Given the description of an element on the screen output the (x, y) to click on. 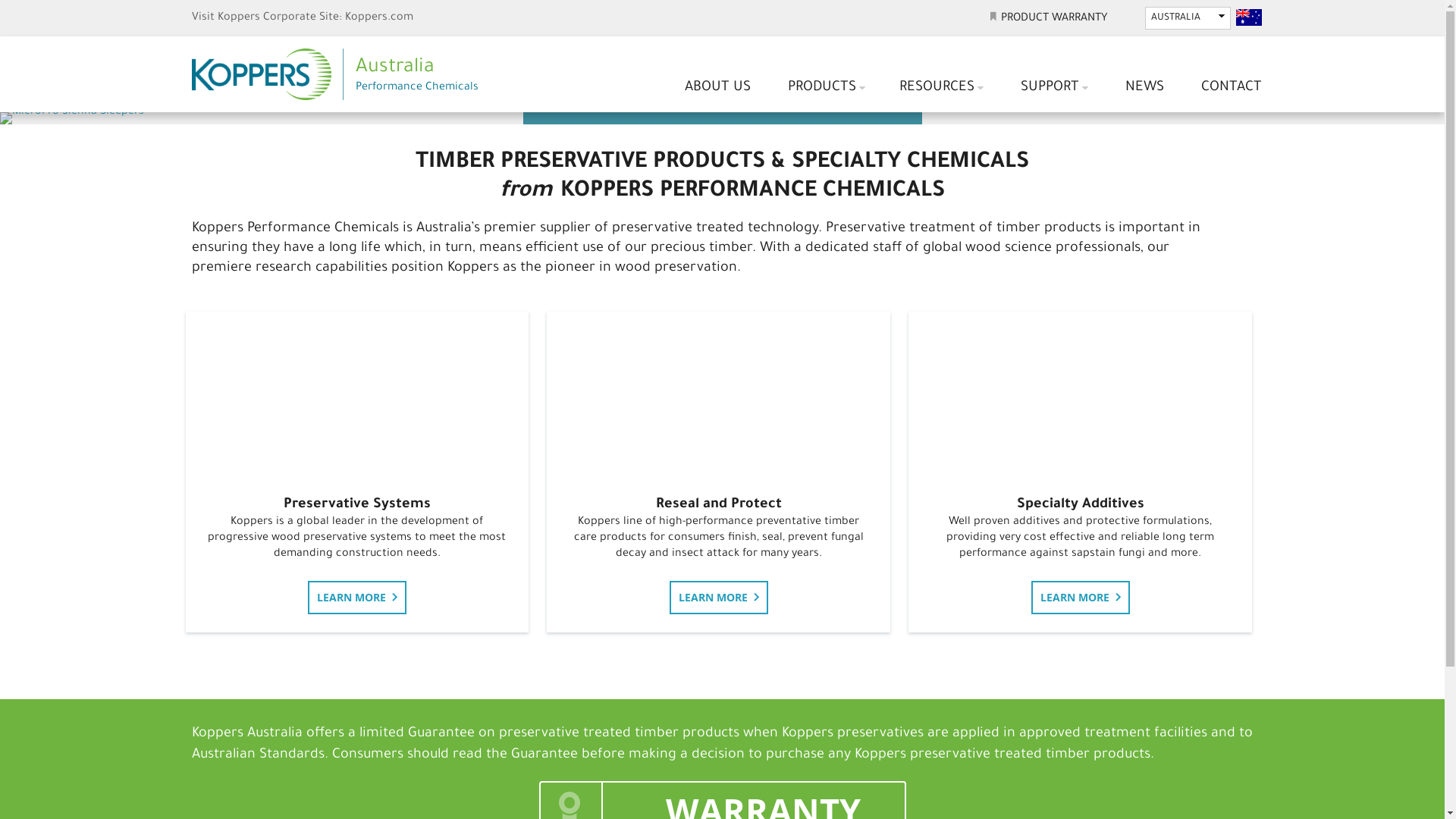
Koppers Logo Element type: hover (266, 74)
LEARN MORE Element type: text (718, 597)
SUPPORT Element type: text (1054, 88)
LEARN MORE Element type: text (356, 597)
NEWS Element type: text (1144, 86)
Specialty Additives Element type: hover (1080, 394)
PRODUCT WARRANTY Element type: text (1047, 18)
CONTACT Element type: text (1231, 86)
ABOUT US Element type: text (717, 86)
DETERMITE TREATED Element type: text (32, 112)
Australia
Performance Chemicals Element type: text (342, 74)
Reseal and Protect Element type: hover (718, 394)
Timber Preservative Info Element type: hover (356, 394)
RESOURCES Element type: text (941, 88)
AUSTRALIA Element type: text (1187, 17)
LEARN MORE Element type: text (1080, 597)
Visit Koppers Corporate Site: Koppers.com Element type: text (301, 18)
PRODUCTS Element type: text (826, 88)
